Given the description of an element on the screen output the (x, y) to click on. 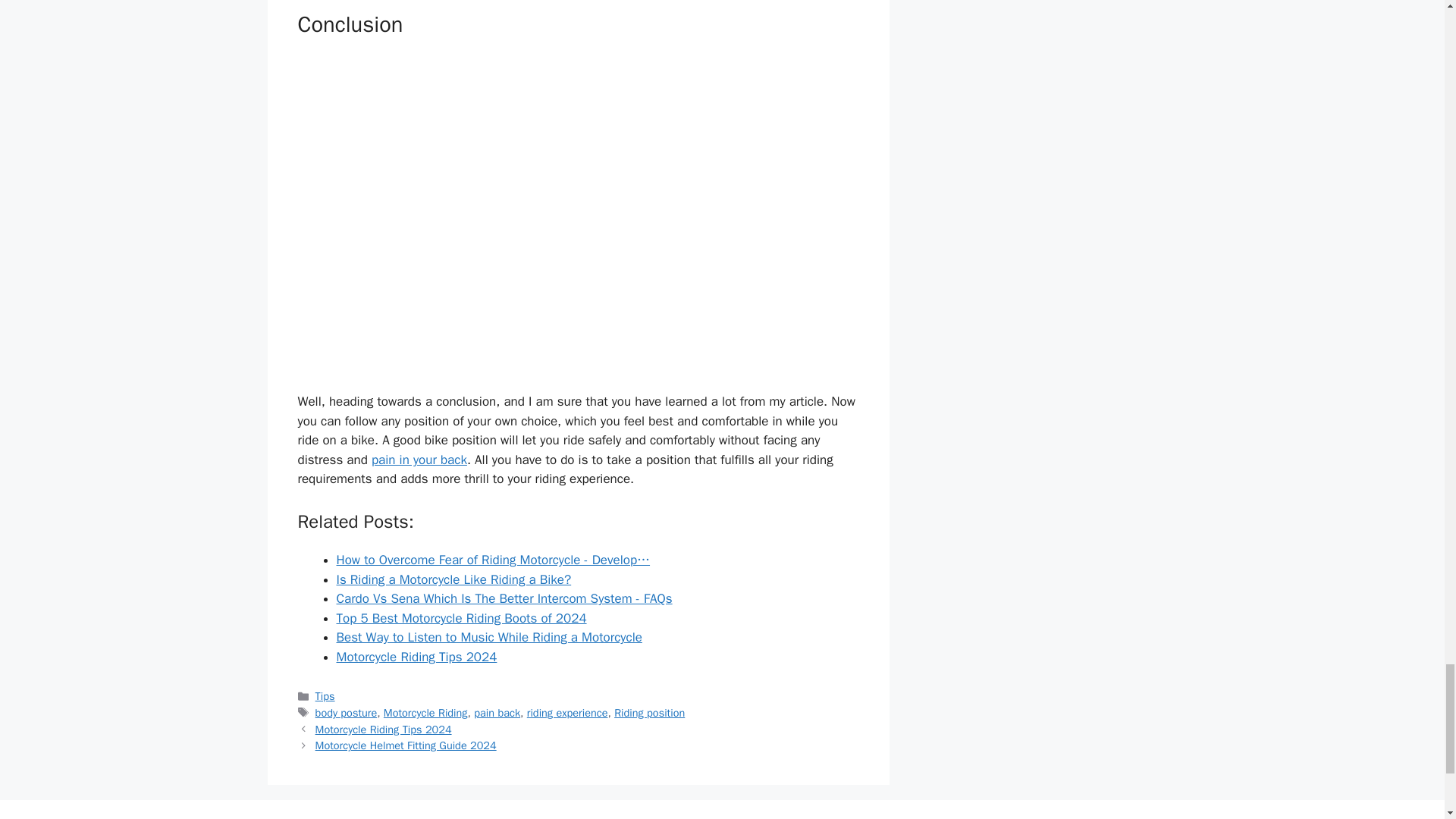
pain back (496, 712)
Motorcycle Riding Tips 2024 (416, 657)
riding experience (567, 712)
Tips (324, 695)
pain in your back (419, 459)
Motorcycle Riding Tips 2024 (383, 729)
Motorcycle Helmet Fitting Guide 2024 (405, 745)
body posture (346, 712)
Top 5 Best Motorcycle Riding Boots of 2024 (461, 618)
Motorcycle Riding (425, 712)
Riding position (649, 712)
Cardo Vs Sena Which Is The Better Intercom System - FAQs (504, 598)
Is Riding a Motorcycle Like Riding a Bike? (454, 579)
Best Way to Listen to Music While Riding a Motorcycle (489, 637)
